Given the description of an element on the screen output the (x, y) to click on. 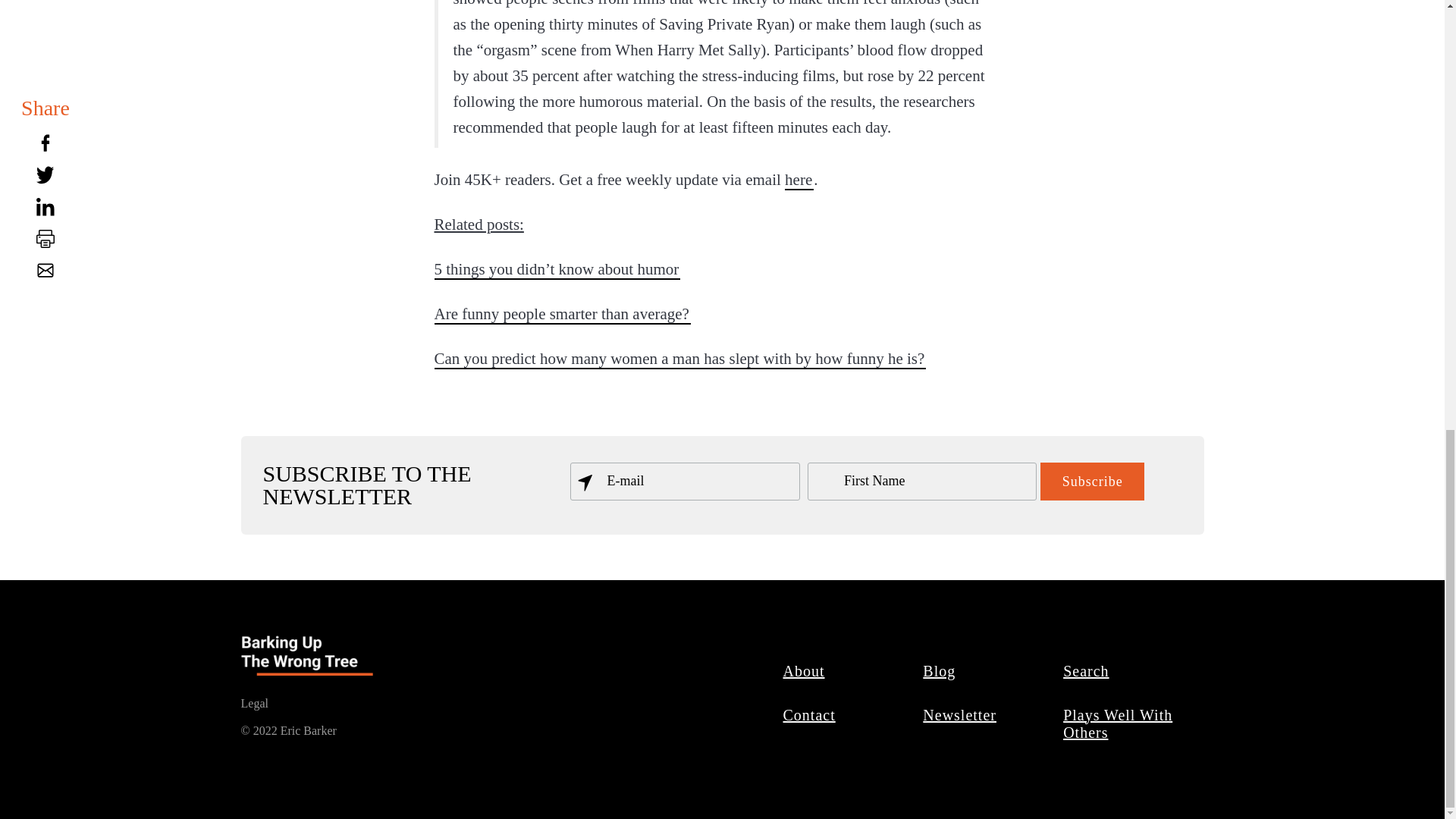
About (804, 669)
Contact (809, 714)
Permalink (679, 358)
Permalink (556, 269)
Plays Well With Others (1117, 723)
Subscribe (1092, 481)
here (798, 179)
Blog (939, 669)
Legal (255, 702)
